Given the description of an element on the screen output the (x, y) to click on. 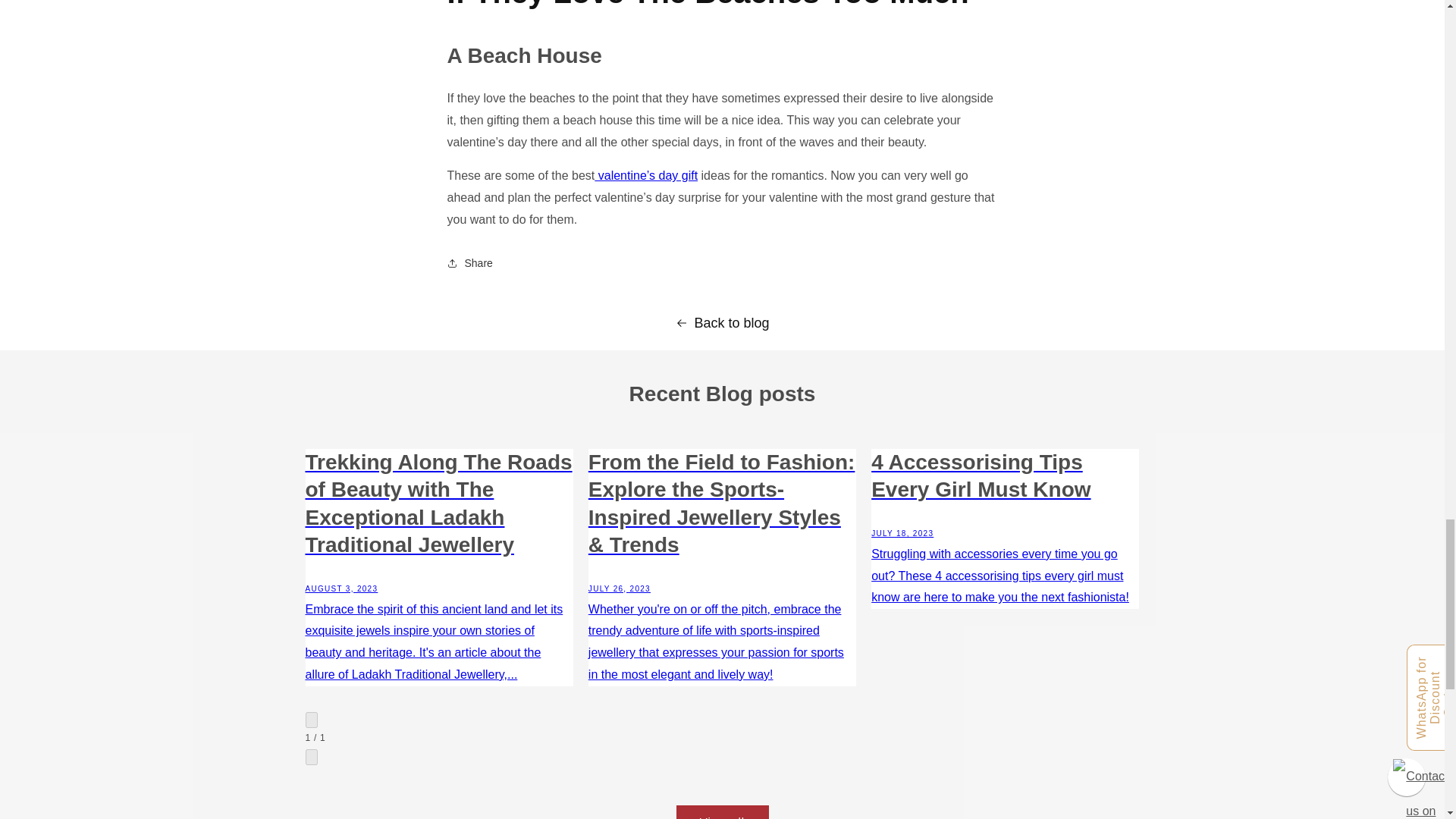
Blingvine Valentine's Day Gifts Collection (645, 174)
